Given the description of an element on the screen output the (x, y) to click on. 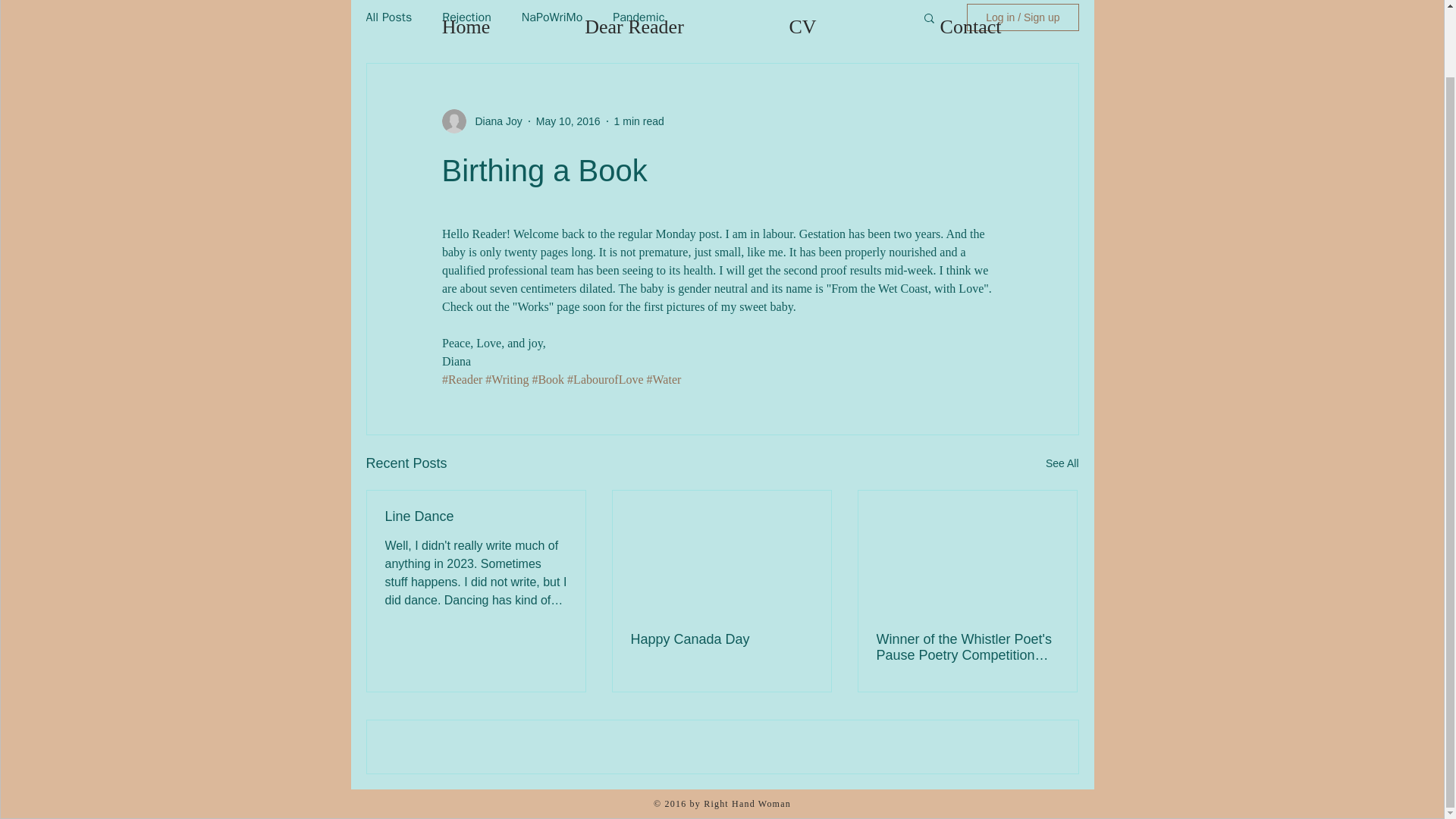
Line Dance (476, 516)
See All (1061, 463)
May 10, 2016 (567, 121)
NaPoWriMo (552, 17)
All Posts (388, 17)
Happy Canada Day (721, 639)
Pandemic (637, 17)
Diana Joy (493, 121)
1 min read (638, 121)
Rejection (467, 17)
